Given the description of an element on the screen output the (x, y) to click on. 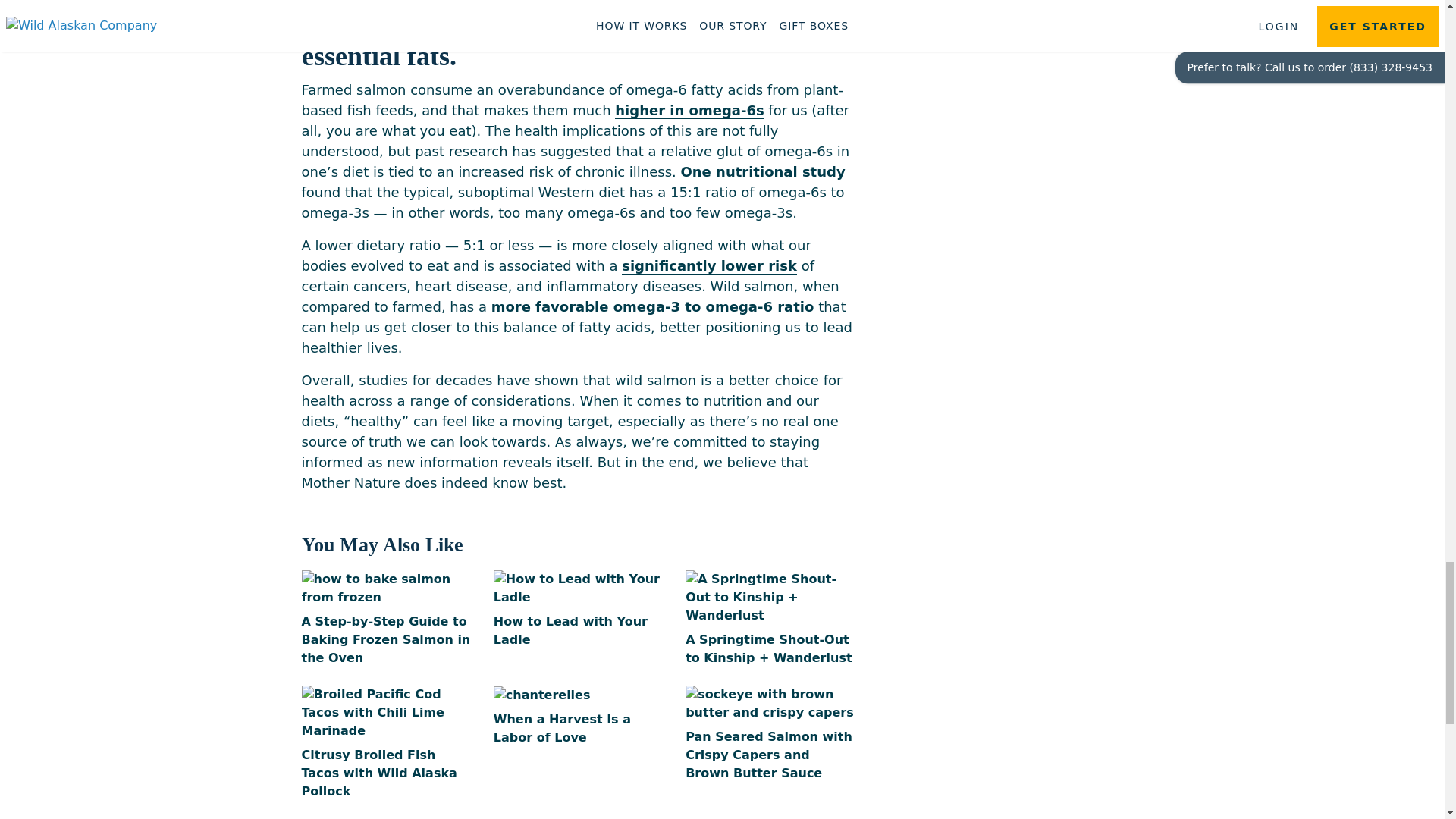
higher in omega-6s (688, 110)
How to Lead with Your Ladle (577, 609)
Citrusy Broiled Fish Tacos with Wild Alaska Pollock (385, 742)
When a Harvest Is a Labor of Love (577, 715)
more favorable omega-3 to omega-6 ratio (652, 306)
A Step-by-Step Guide to Baking Frozen Salmon in the Oven (385, 618)
One nutritional study (763, 171)
significantly lower risk (708, 265)
Pan Seared Salmon with Crispy Capers and Brown Butter Sauce (769, 733)
